Given the description of an element on the screen output the (x, y) to click on. 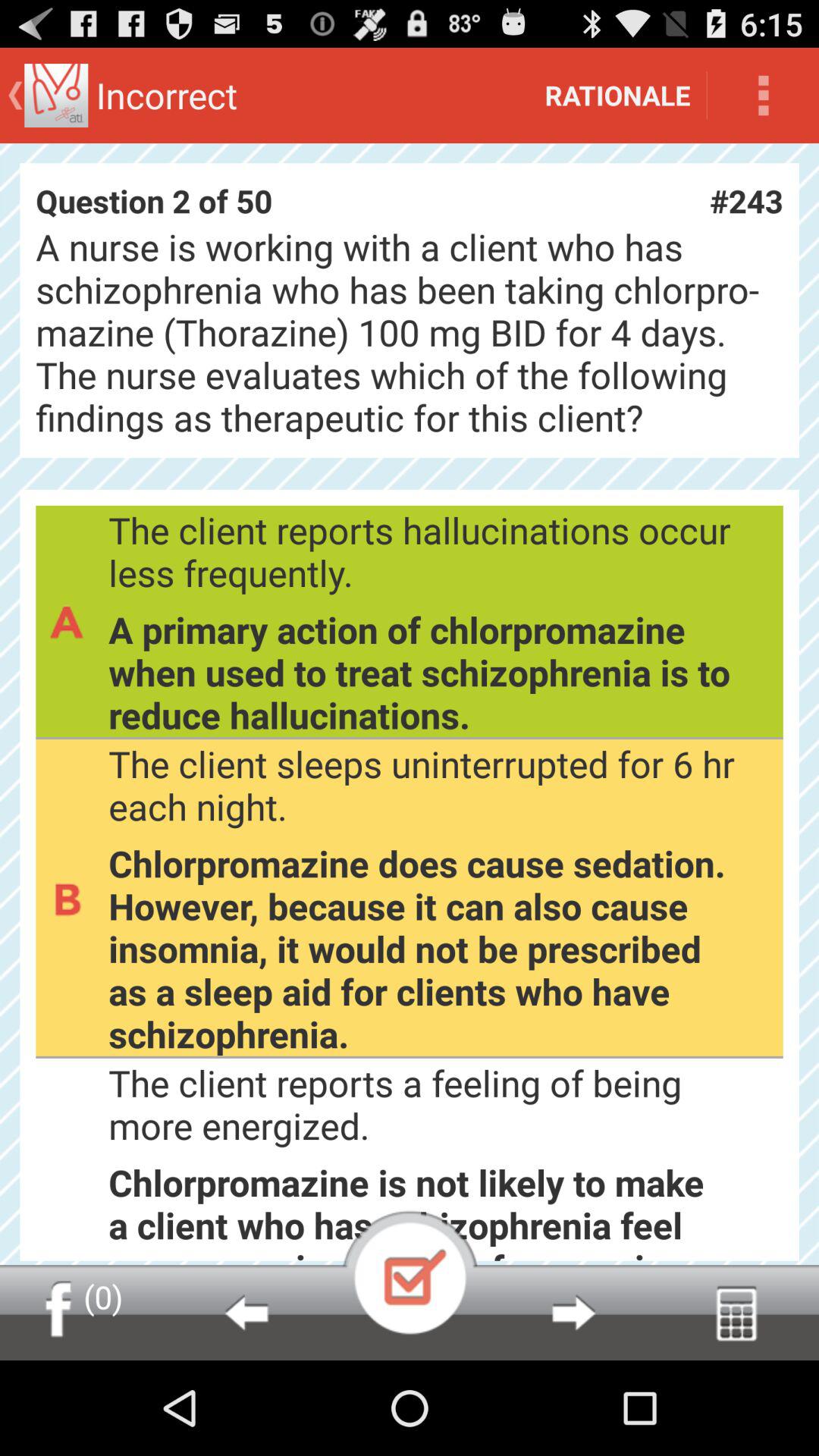
jump until rationale item (617, 95)
